Given the description of an element on the screen output the (x, y) to click on. 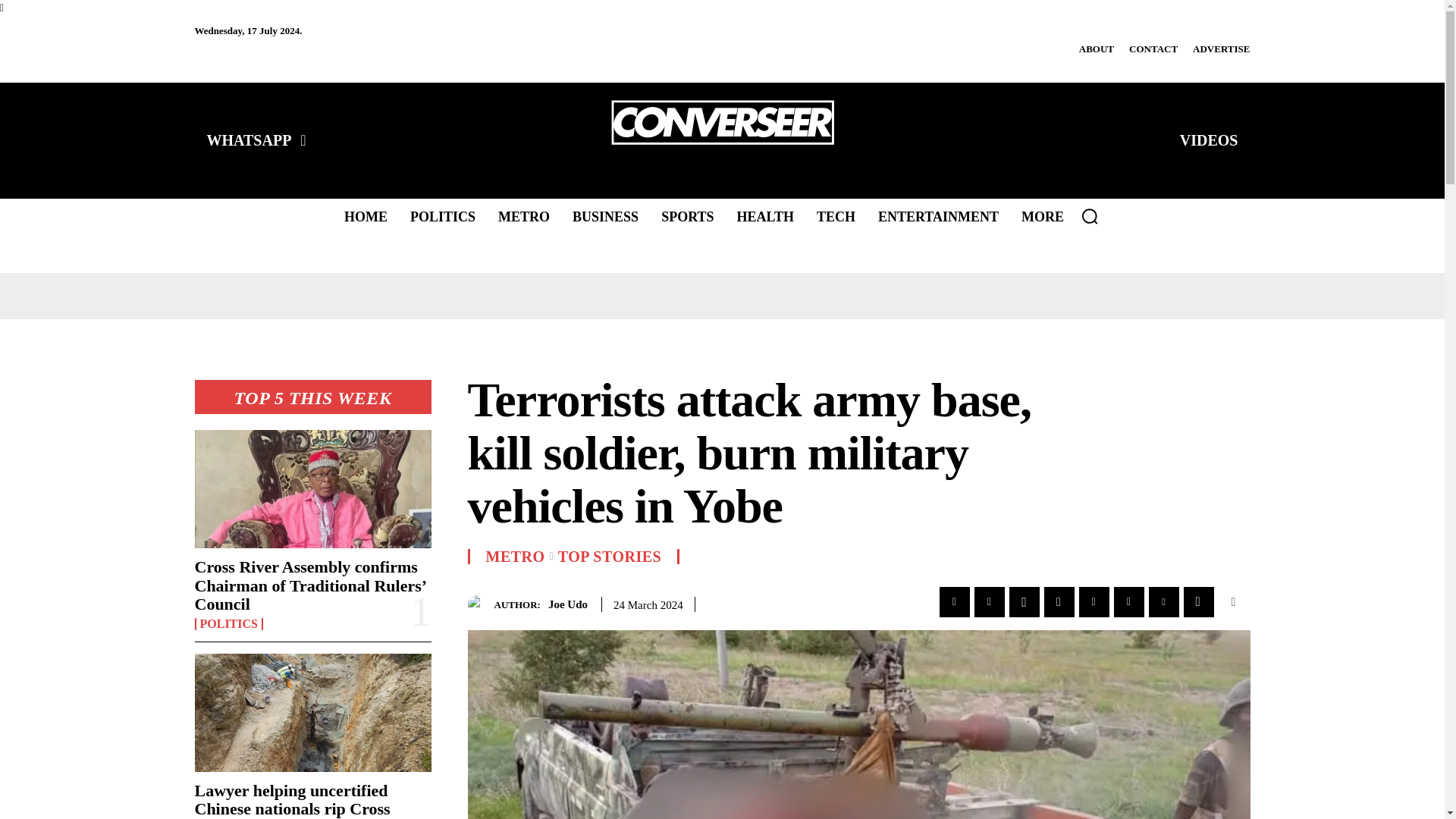
WhatsApp (255, 139)
Videos (1208, 139)
